Given the description of an element on the screen output the (x, y) to click on. 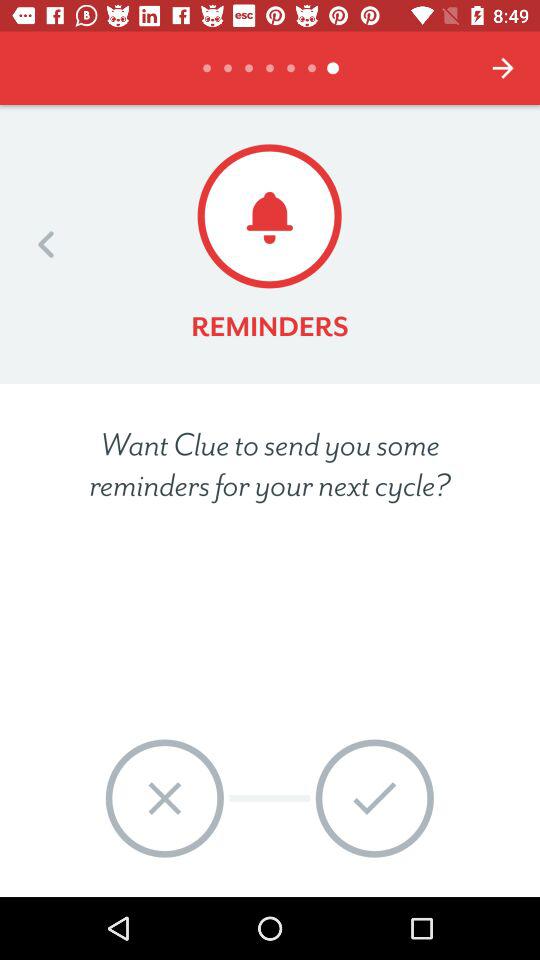
choose the item at the bottom right corner (374, 798)
